Given the description of an element on the screen output the (x, y) to click on. 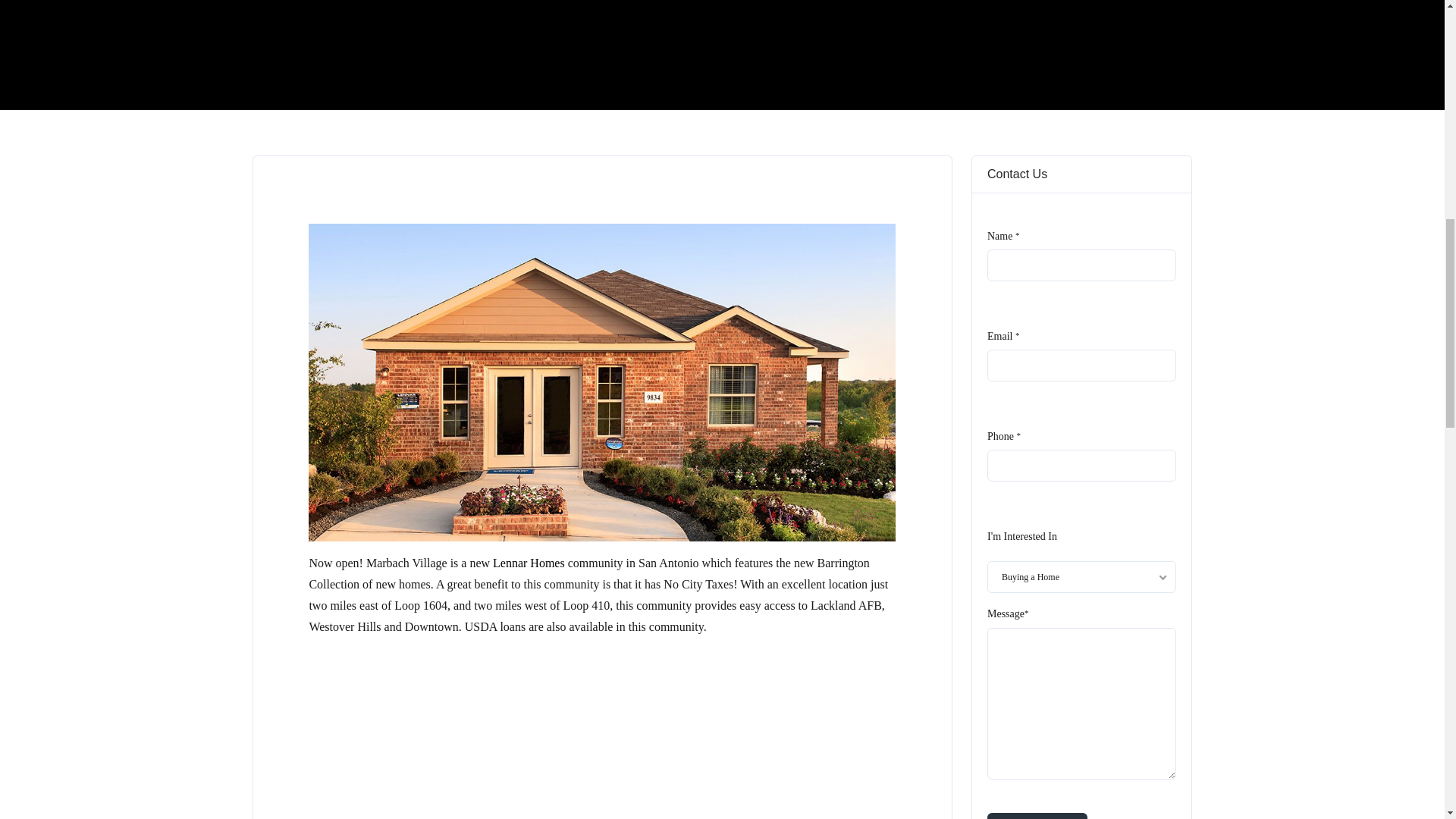
Send Message (1037, 816)
